Given the description of an element on the screen output the (x, y) to click on. 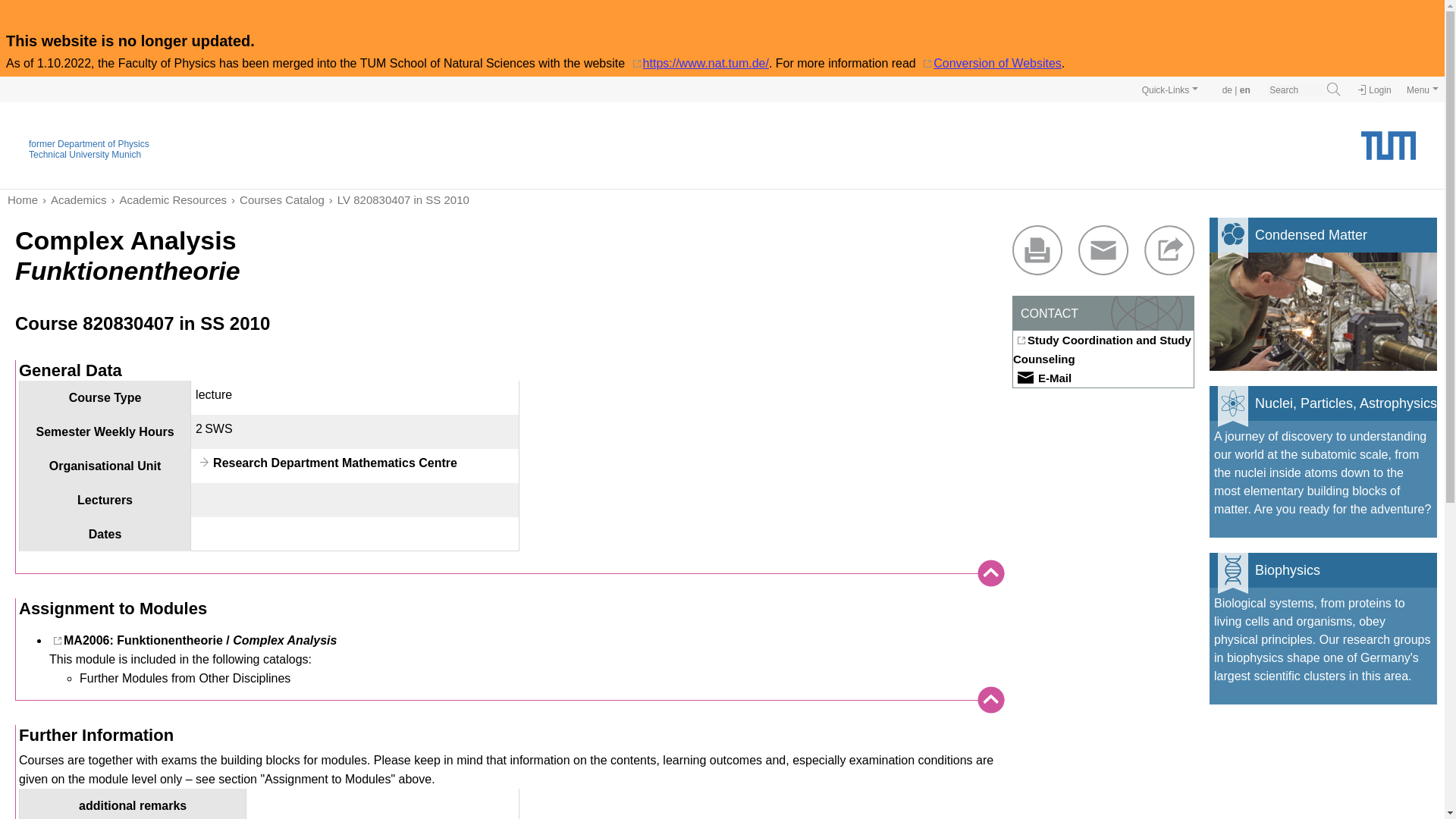
Academics (71, 199)
Conversion of Websites (989, 62)
Home (22, 199)
Search on these webpages (1333, 89)
Research Department Mathematics Centre (326, 462)
Quick-Links (1170, 89)
zur deutschen Seite wechseln (1227, 90)
former Department of Physics (89, 143)
Search phrase to find on these webpages (1295, 90)
Courses Catalog (275, 199)
Login (1374, 90)
Module Catalog in Physics (275, 199)
the English language version is displayed (1245, 90)
LV 820830407 in SS 2010 (396, 199)
de (1227, 90)
